Given the description of an element on the screen output the (x, y) to click on. 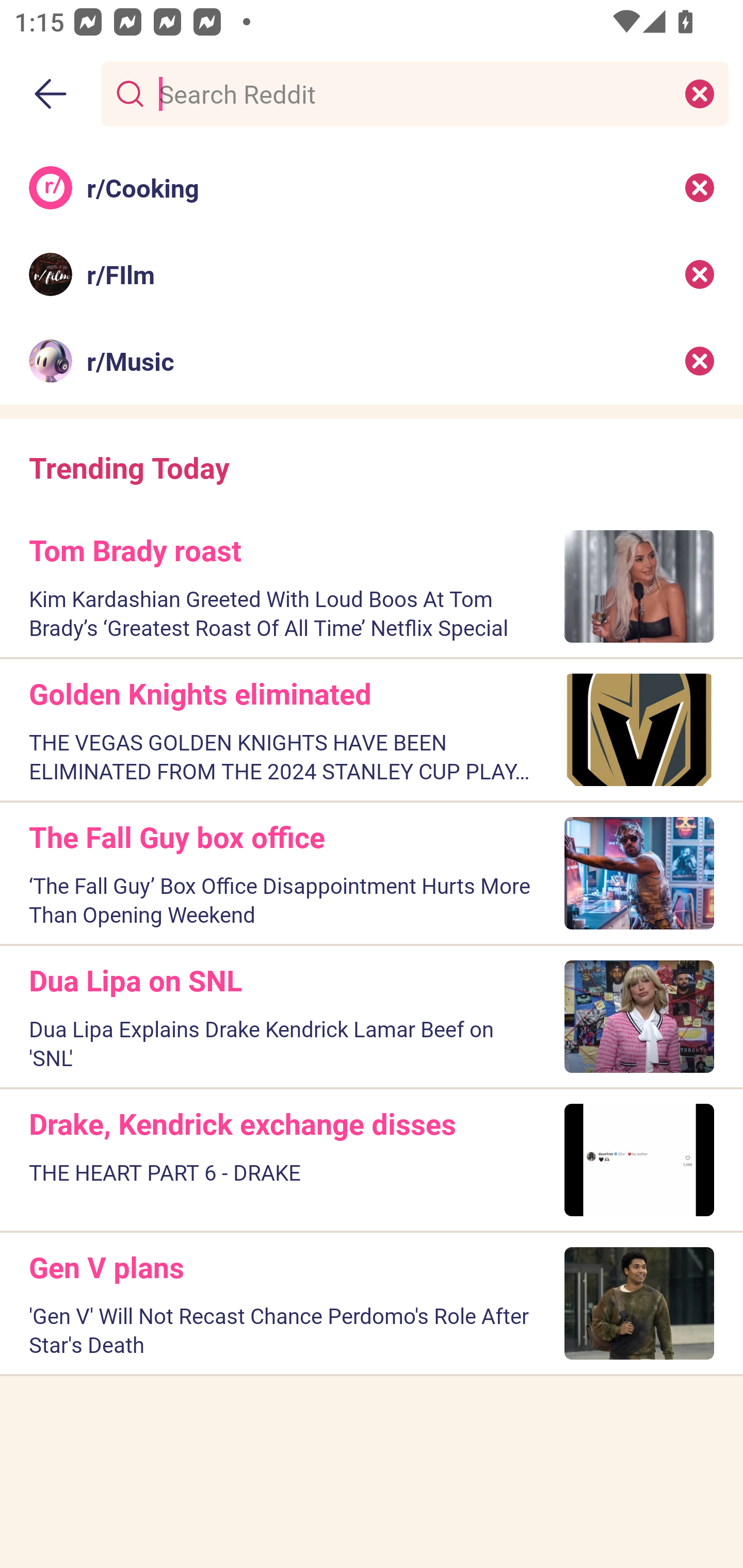
Back (50, 93)
Search Reddit (410, 93)
Clear search (699, 93)
r/Cooking Recent search: r/Cooking Remove (371, 187)
Remove (699, 187)
r/FIlm Recent search: r/FIlm Remove (371, 274)
Remove (699, 274)
r/Music Recent search: r/Music Remove (371, 361)
Remove (699, 361)
